Given the description of an element on the screen output the (x, y) to click on. 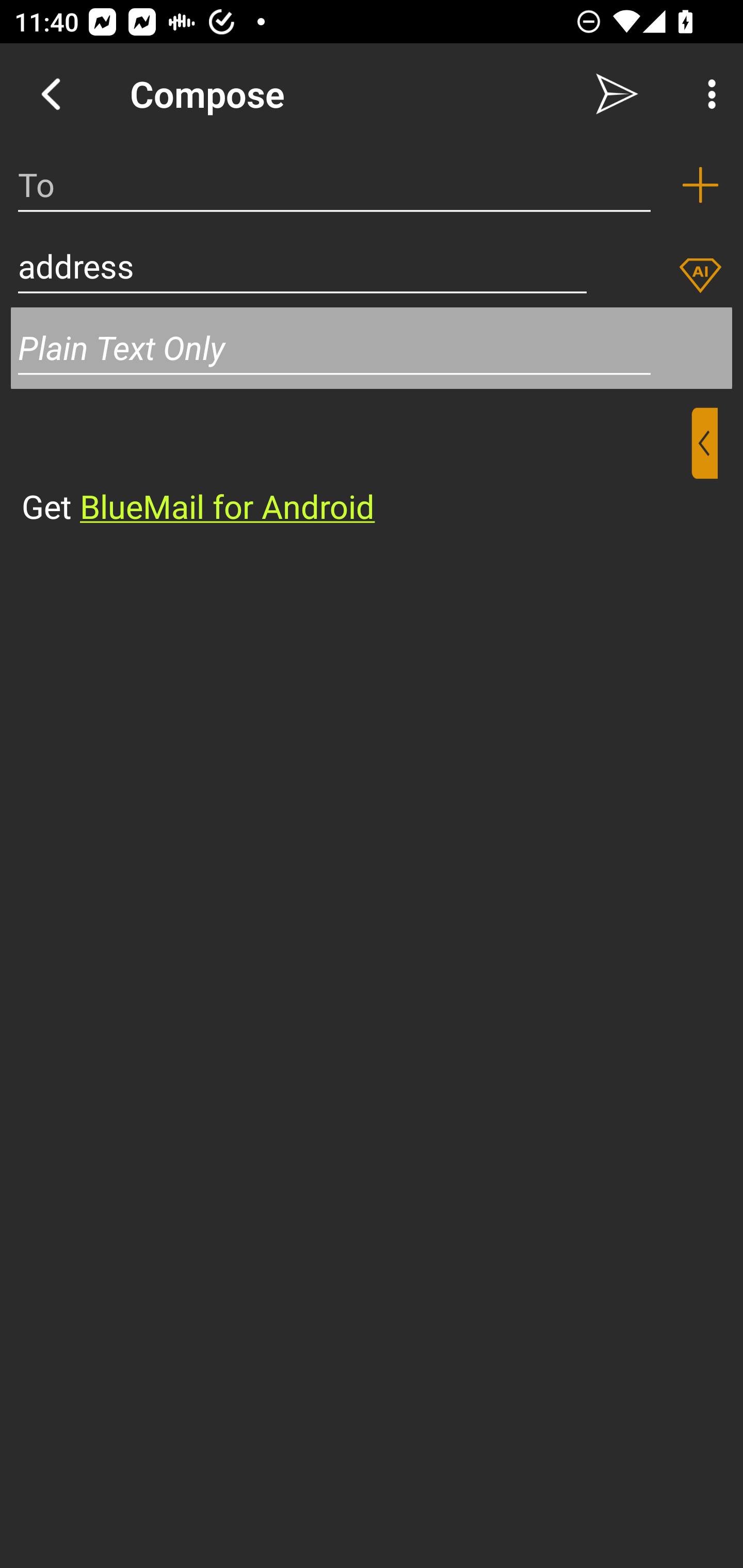
Navigate up (50, 93)
Send (616, 93)
More Options (706, 93)
To (334, 184)
Add recipient (To) (699, 184)
address (302, 266)
Plain Text Only (371, 347)


⁣Get BlueMail for Android ​ (355, 468)
